Given the description of an element on the screen output the (x, y) to click on. 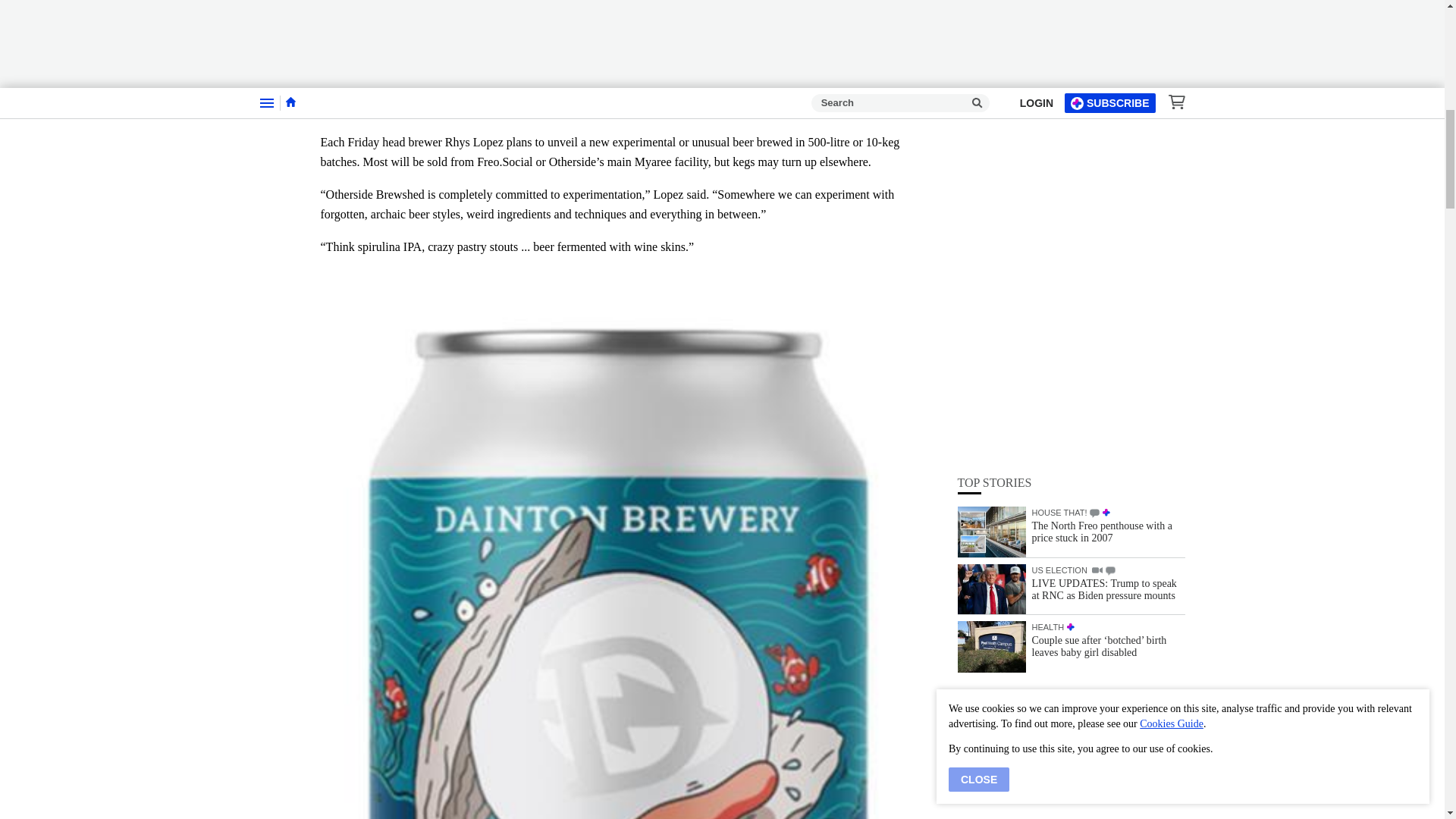
PREMIUM (1106, 111)
COMMENTS (1094, 112)
COMMENTS (1110, 169)
VIDEO (1097, 168)
PREMIUM (1070, 225)
